Given the description of an element on the screen output the (x, y) to click on. 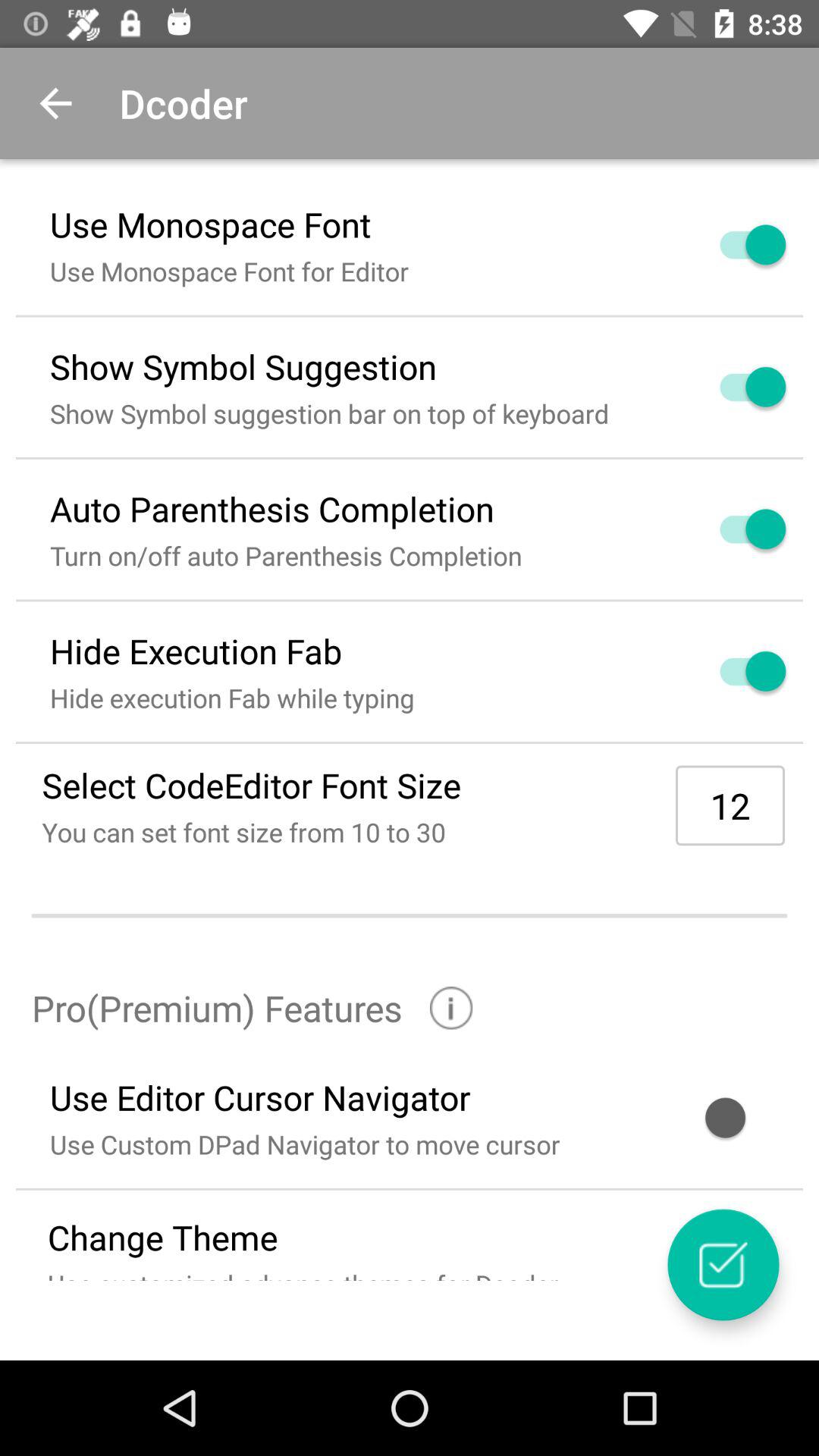
choose item to the left of the dcoder icon (55, 103)
